Given the description of an element on the screen output the (x, y) to click on. 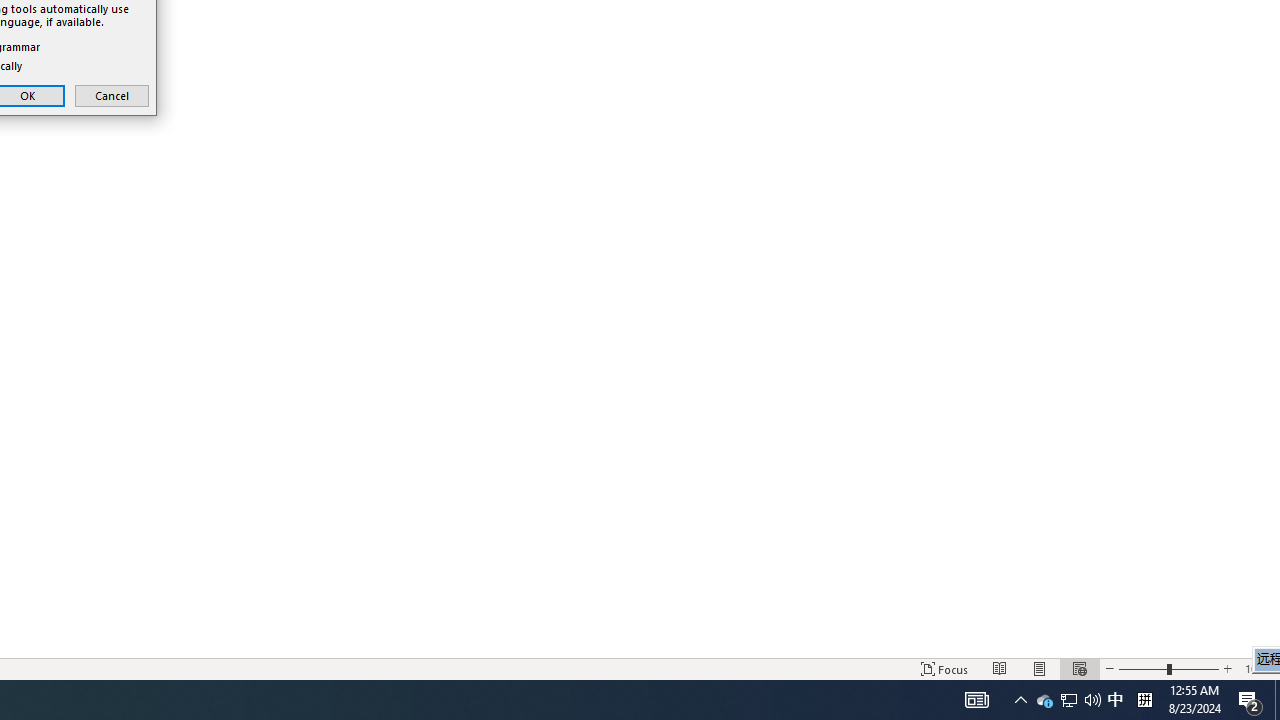
Zoom 100% (1258, 668)
Tray Input Indicator - Chinese (Simplified, China) (1144, 699)
